Given the description of an element on the screen output the (x, y) to click on. 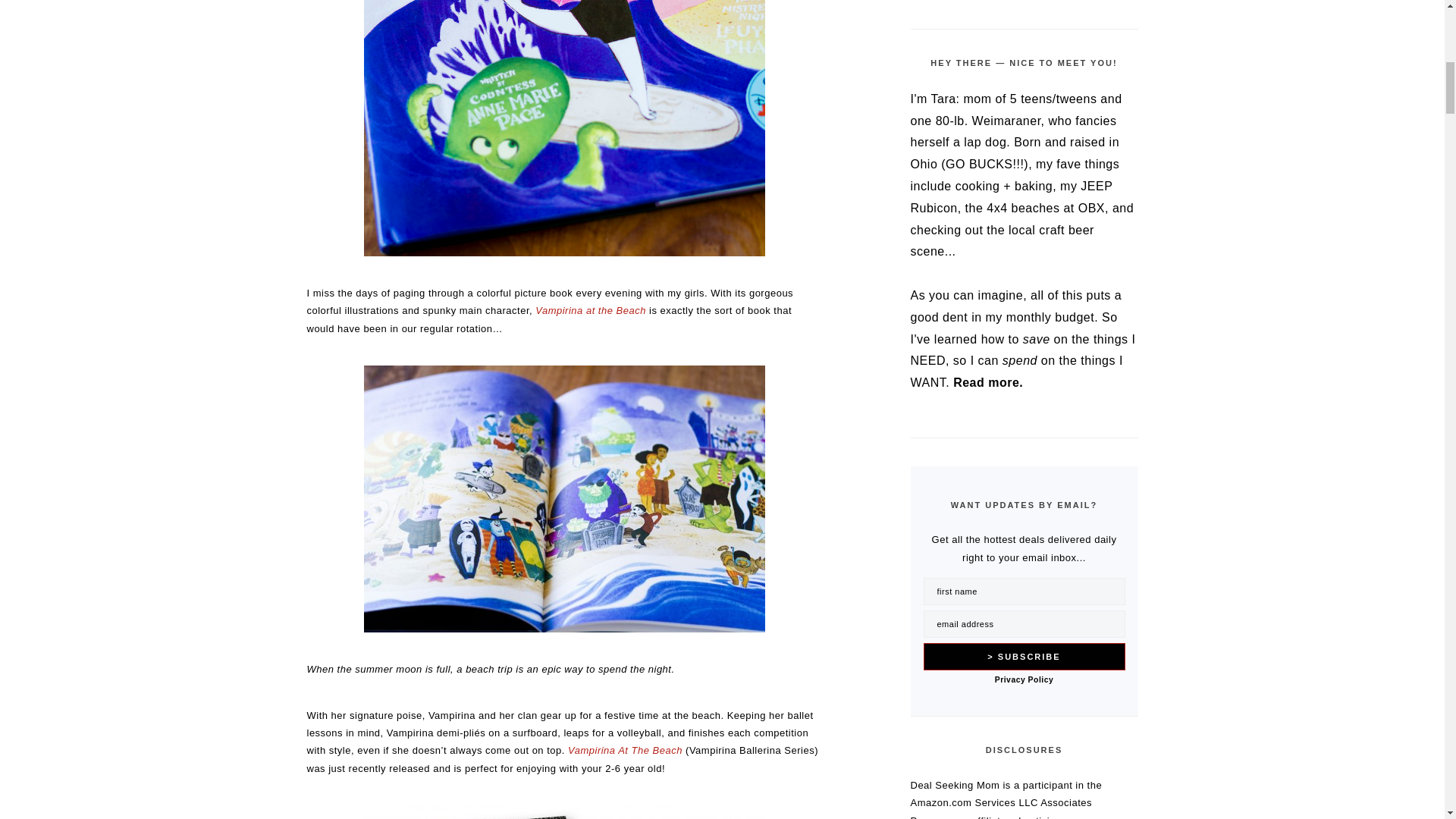
Vampirina at the Beach Pages (564, 498)
Vampirina At The Beach (624, 749)
Dreadfully Fun Prize Pack (564, 812)
Vampirina at the Beach (590, 310)
Vampirina at the Beach (564, 128)
